Given the description of an element on the screen output the (x, y) to click on. 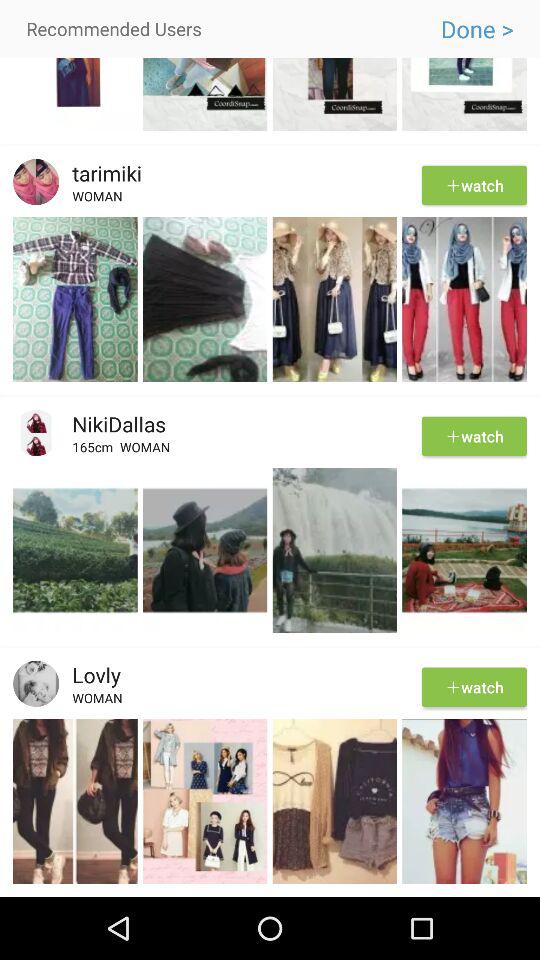
click done > (476, 29)
